Given the description of an element on the screen output the (x, y) to click on. 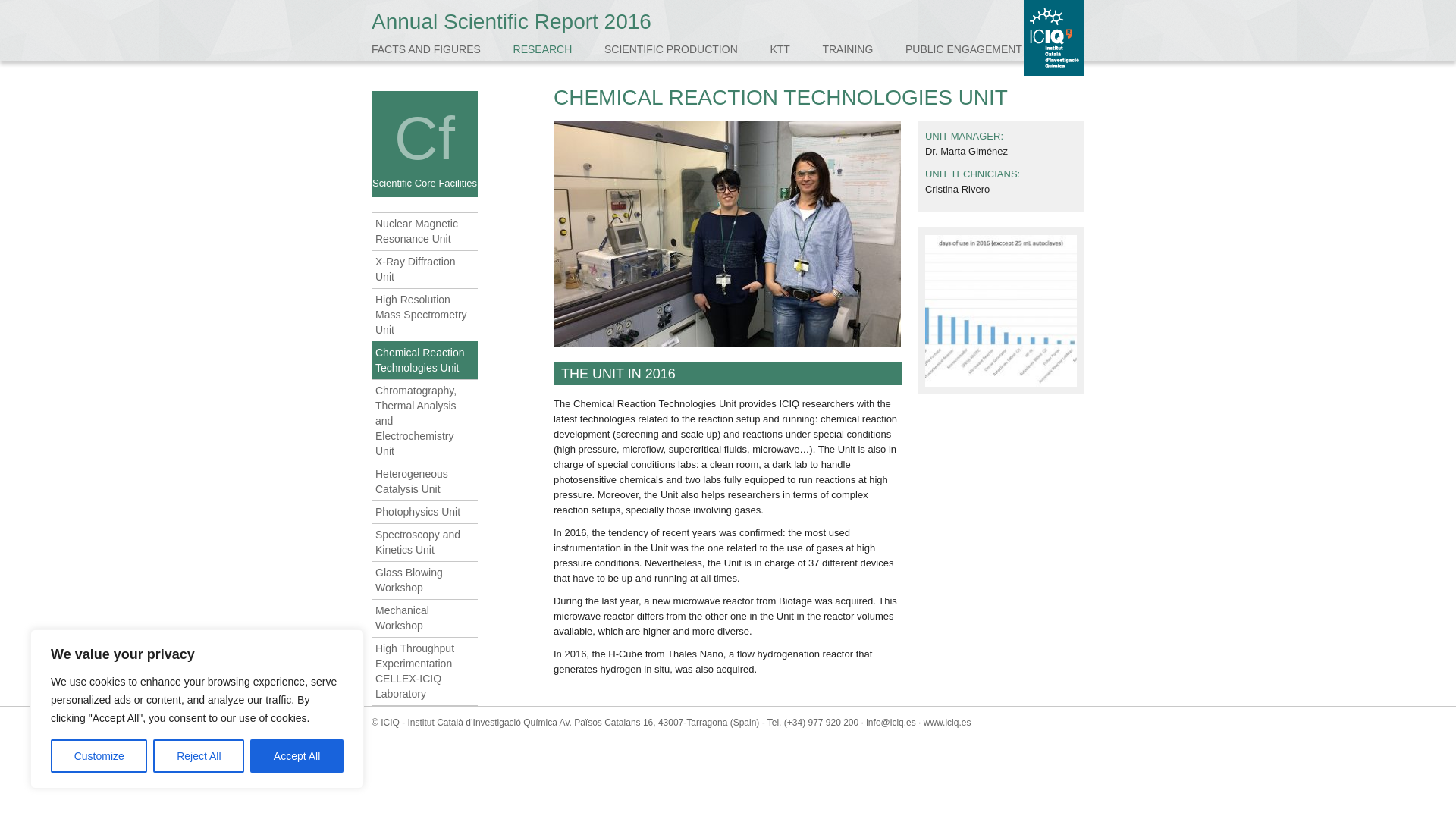
KTT (779, 48)
Spectroscopy and Kinetics Unit (424, 542)
X-Ray Diffraction Unit (424, 269)
RESEARCH (542, 48)
Mechanical Workshop (424, 617)
Glass Blowing Workshop (424, 579)
Chromatography, Thermal Analysis and Electrochemistry Unit (424, 420)
Nuclear Magnetic Resonance Unit (424, 231)
High Resolution Mass Spectrometry Unit (424, 314)
Heterogeneous Catalysis Unit (424, 481)
TRAINING (847, 48)
Annual Scientific Report 2016 (510, 21)
High Throughput Experimentation CELLEX-ICIQ Laboratory (424, 671)
Photophysics Unit (424, 511)
www.iciq.es (947, 722)
